Given the description of an element on the screen output the (x, y) to click on. 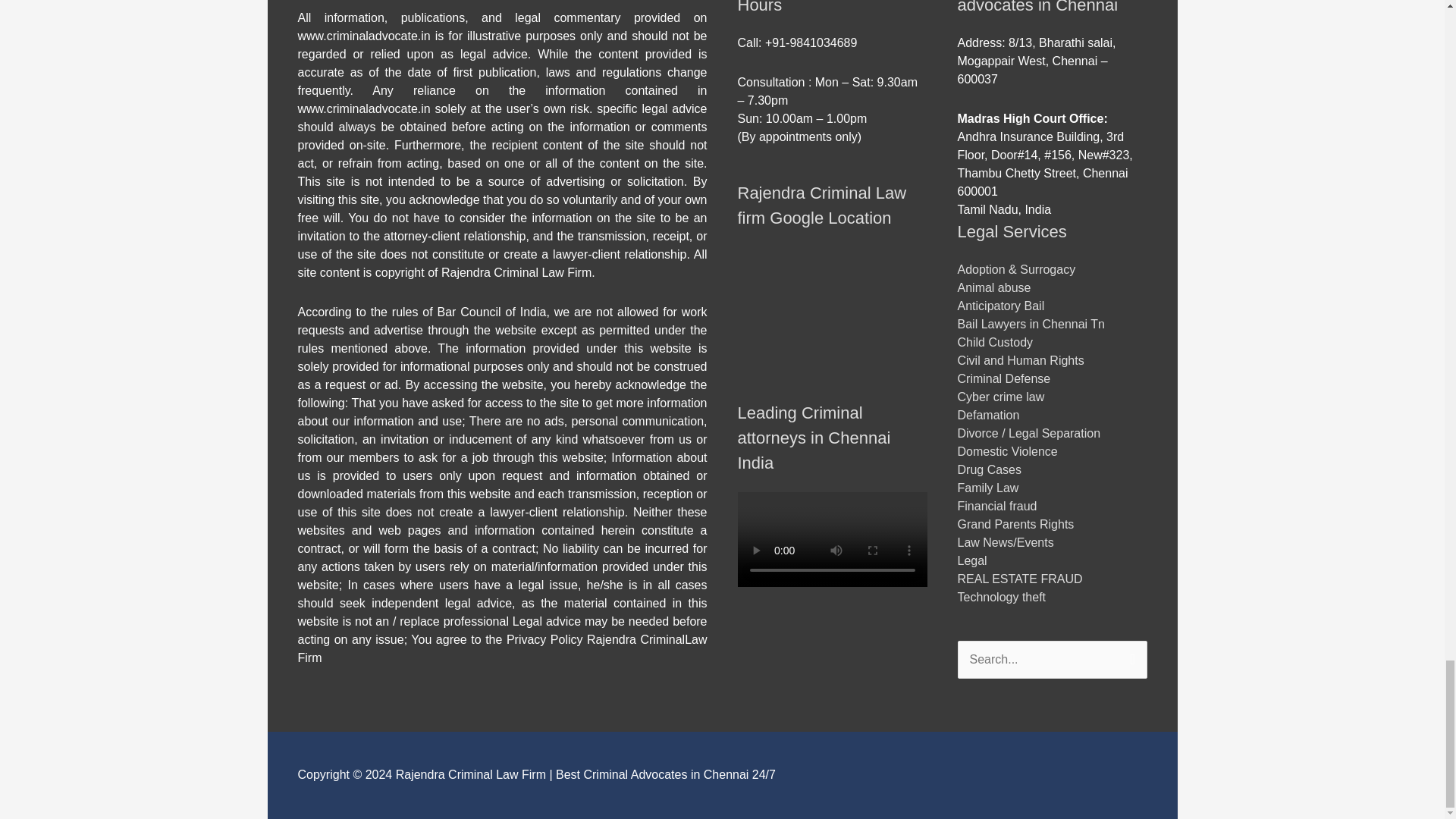
Search (1130, 655)
Search (1130, 655)
